Given the description of an element on the screen output the (x, y) to click on. 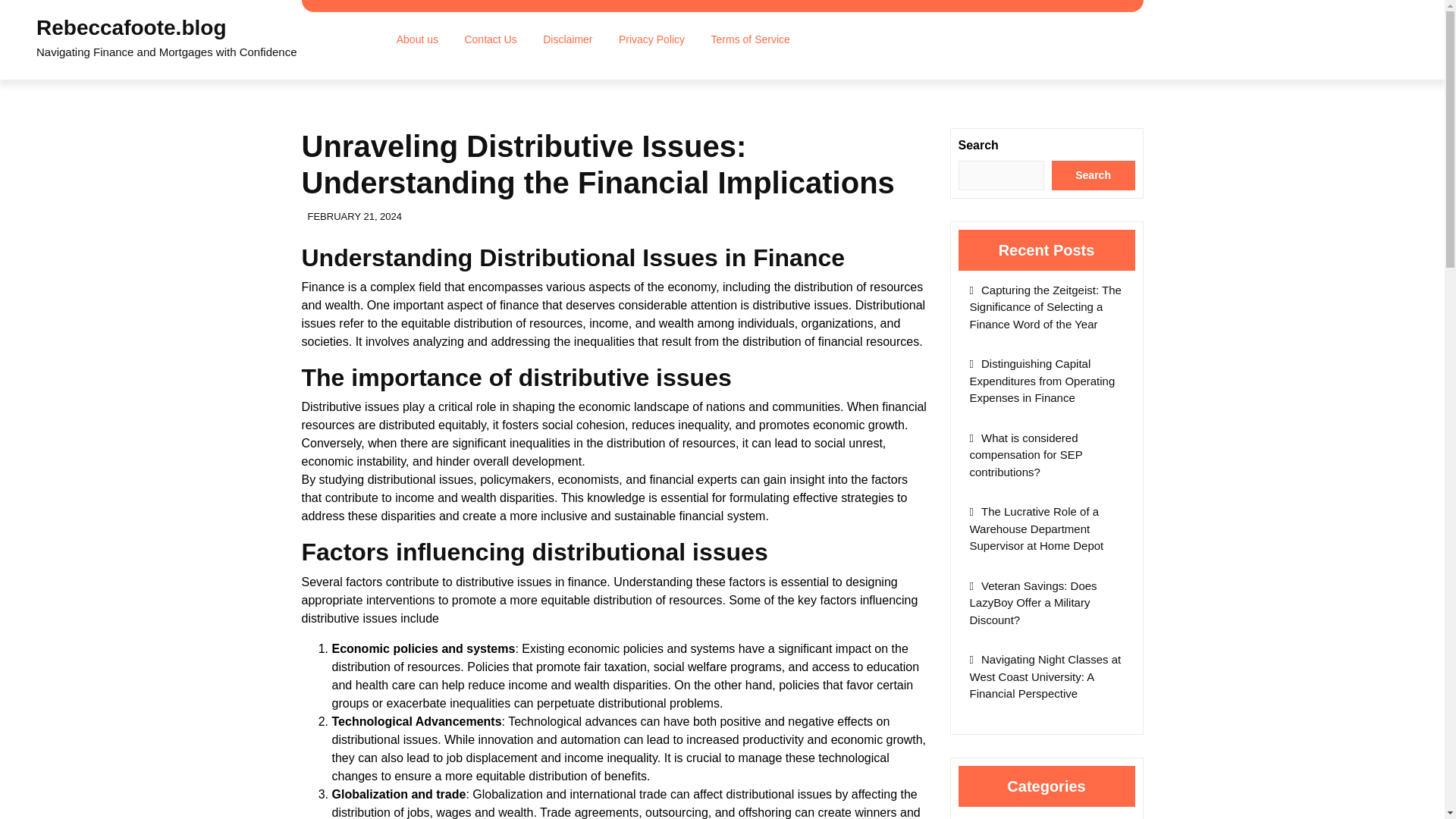
Privacy Policy (651, 39)
What is considered compensation for SEP contributions? (1025, 454)
Veteran Savings: Does LazyBoy Offer a Military Discount? (1032, 602)
Contact Us (489, 39)
Disclaimer (567, 39)
Rebeccafoote.blog (130, 27)
Search (1093, 175)
